Given the description of an element on the screen output the (x, y) to click on. 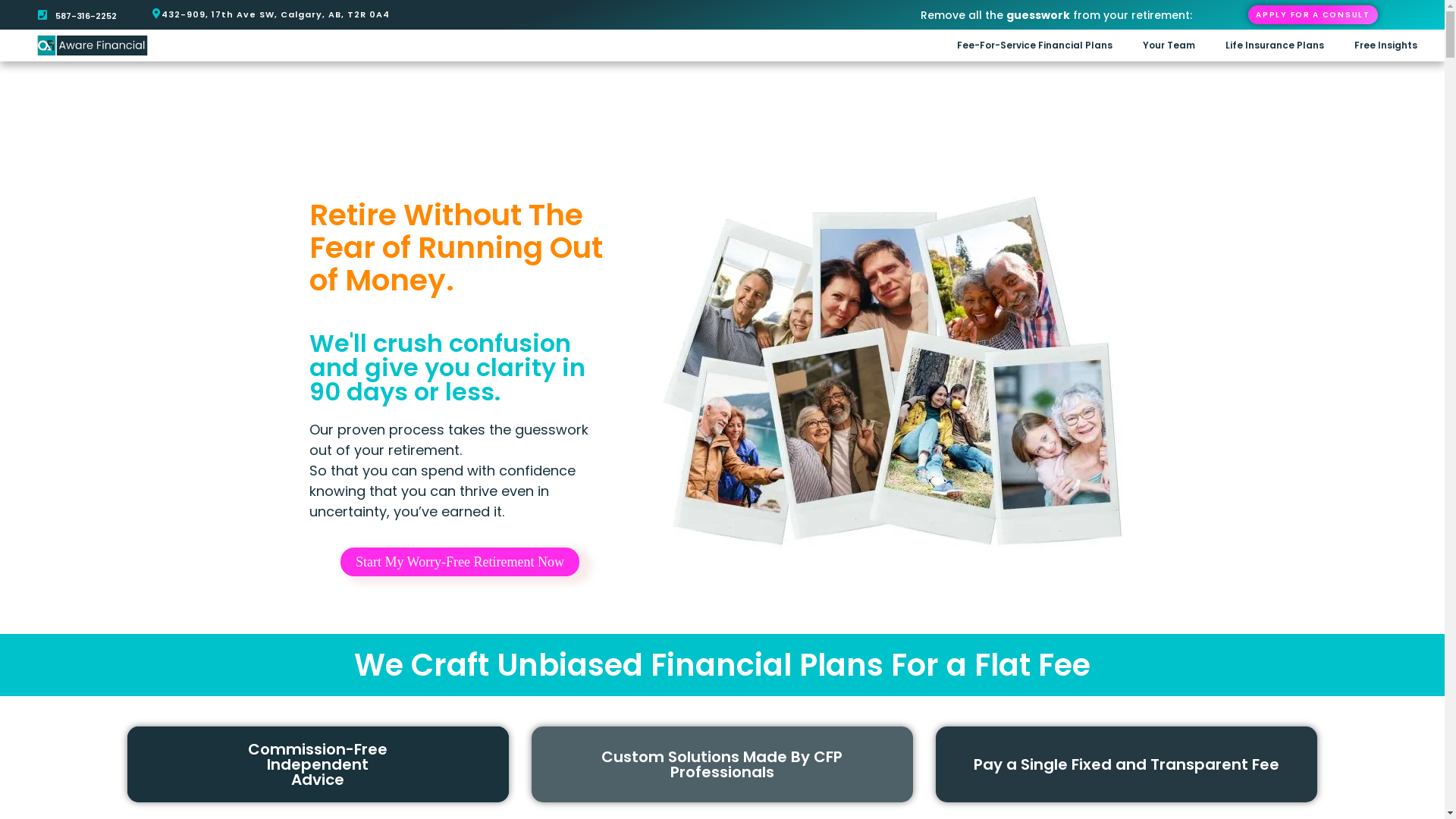
Your Team Element type: text (1168, 45)
APPLY FOR A CONSULT Element type: text (1312, 14)
Life Insurance Plans Element type: text (1274, 45)
Start My Worry-Free Retirement Now Element type: text (459, 561)
Fee-For-Service Financial Plans Element type: text (1034, 45)
Free Insights Element type: text (1385, 45)
